Given the description of an element on the screen output the (x, y) to click on. 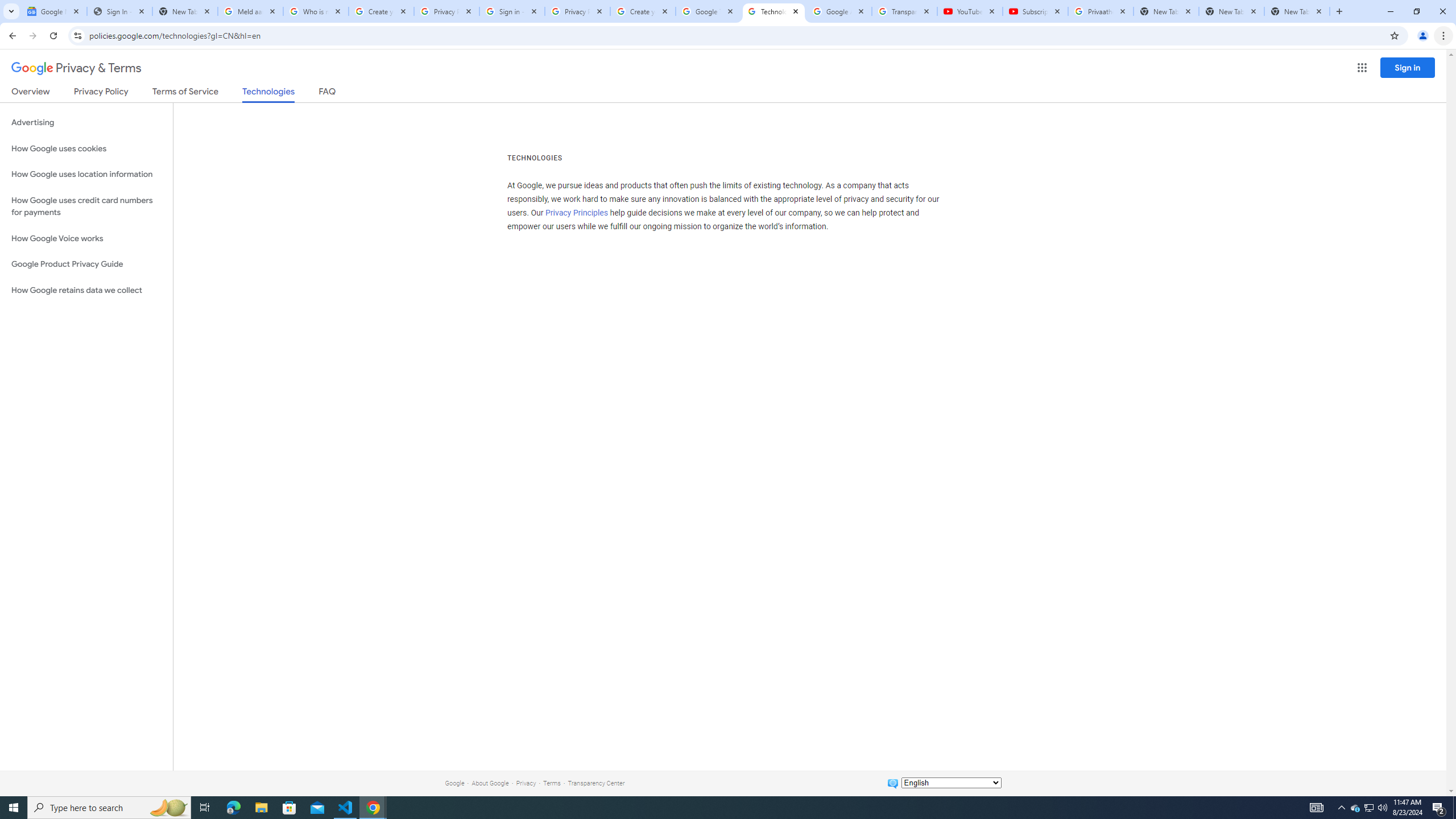
Change language: (951, 782)
Google (454, 783)
Sign in (1407, 67)
About Google (490, 783)
Terms of Service (184, 93)
Overview (30, 93)
Subscriptions - YouTube (1035, 11)
Who is my administrator? - Google Account Help (315, 11)
Create your Google Account (381, 11)
